Given the description of an element on the screen output the (x, y) to click on. 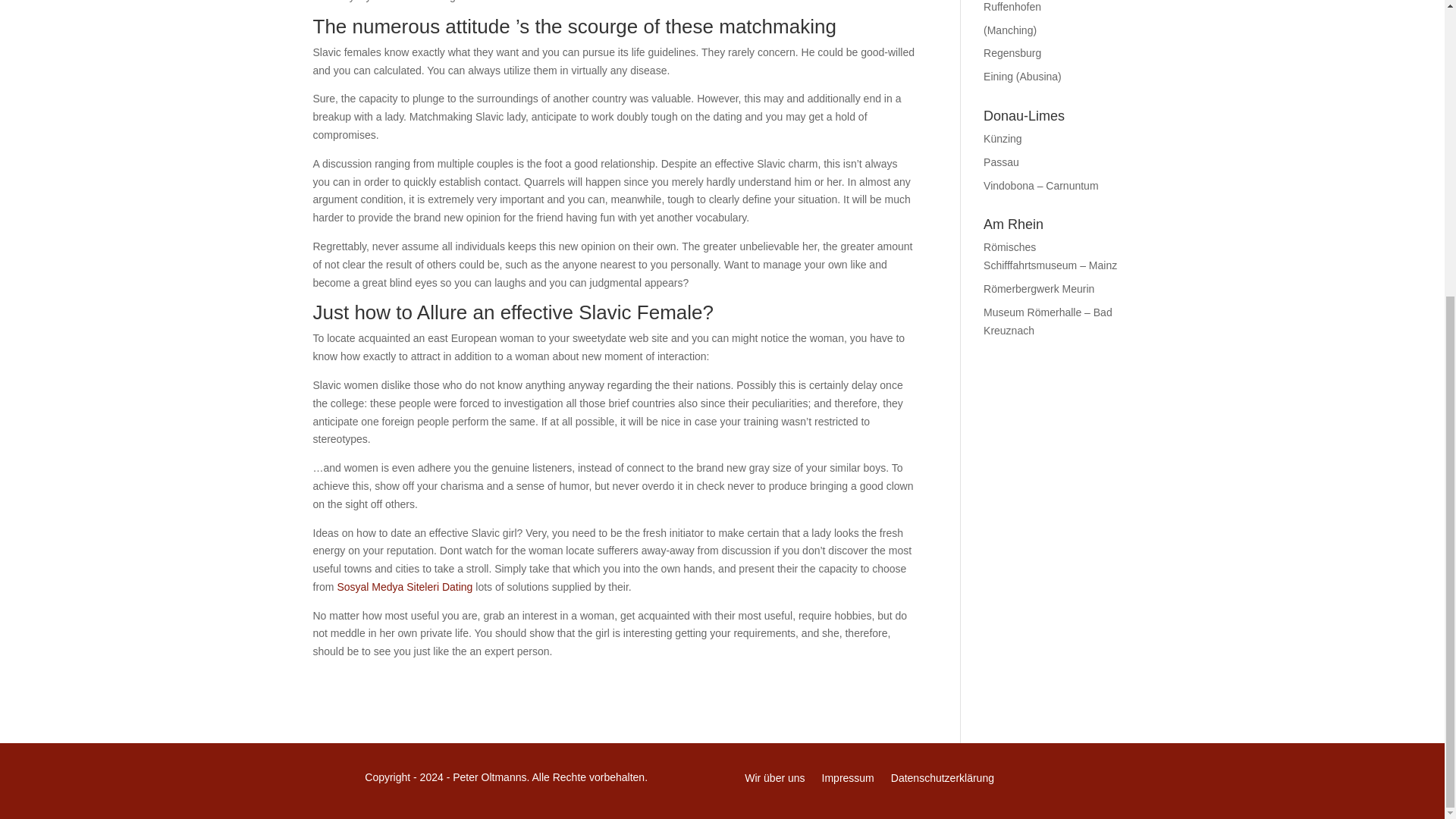
Regensburg (1012, 52)
Sosyal Medya Siteleri Dating (403, 586)
Ruffenhofen (1012, 6)
